Given the description of an element on the screen output the (x, y) to click on. 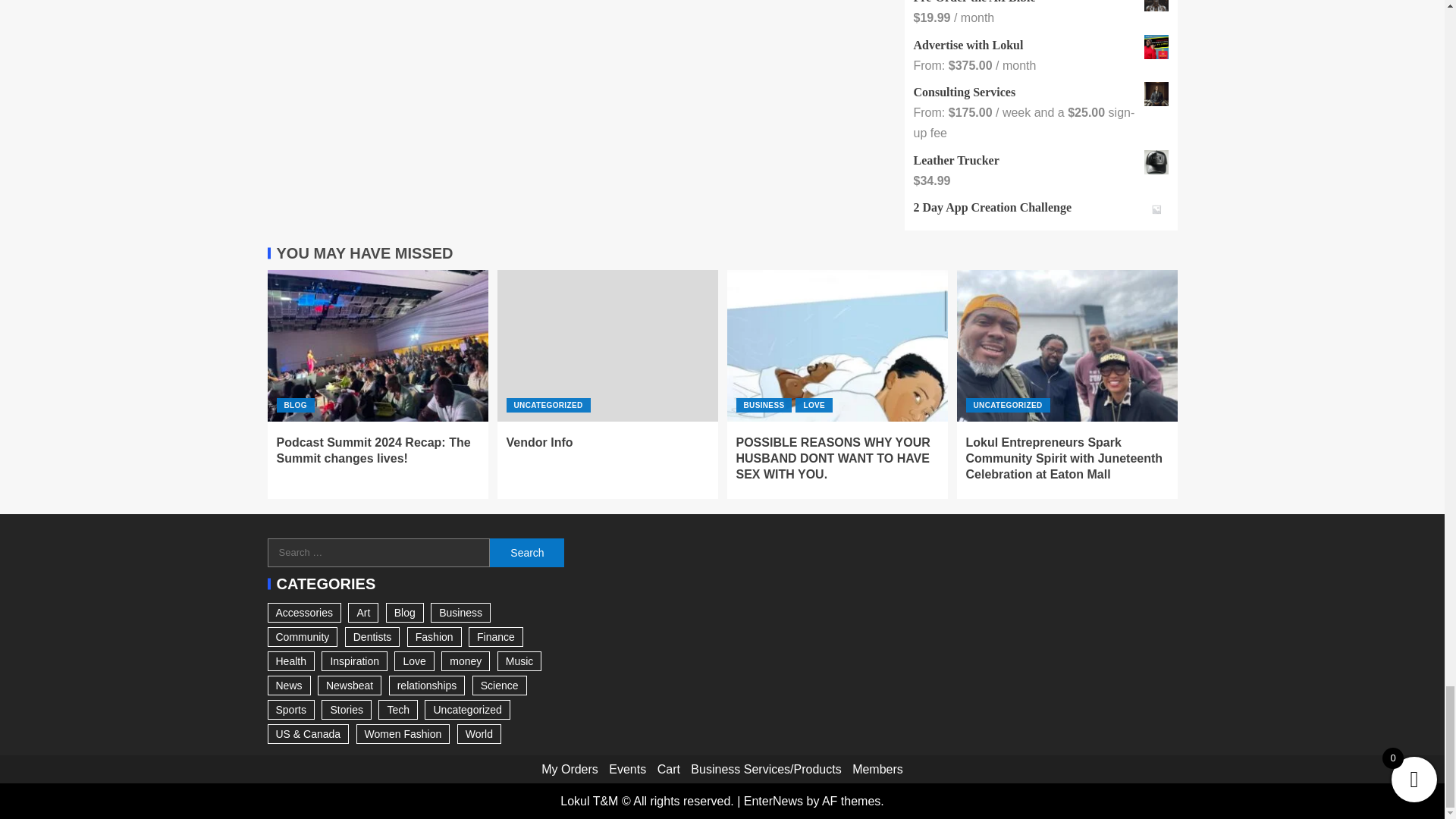
Search (526, 552)
Search (526, 552)
